Given the description of an element on the screen output the (x, y) to click on. 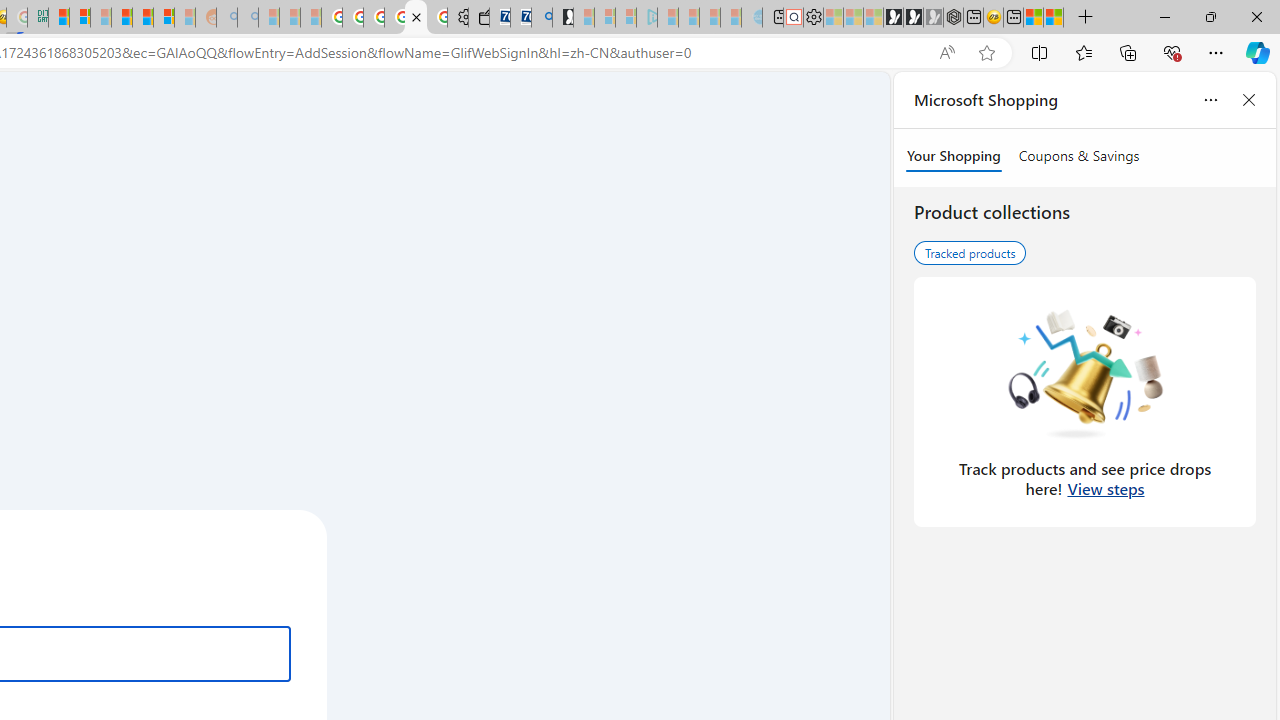
Bing Real Estate - Home sales and rental listings (541, 17)
Wallet (478, 17)
Kinda Frugal - MSN (143, 17)
